Given the description of an element on the screen output the (x, y) to click on. 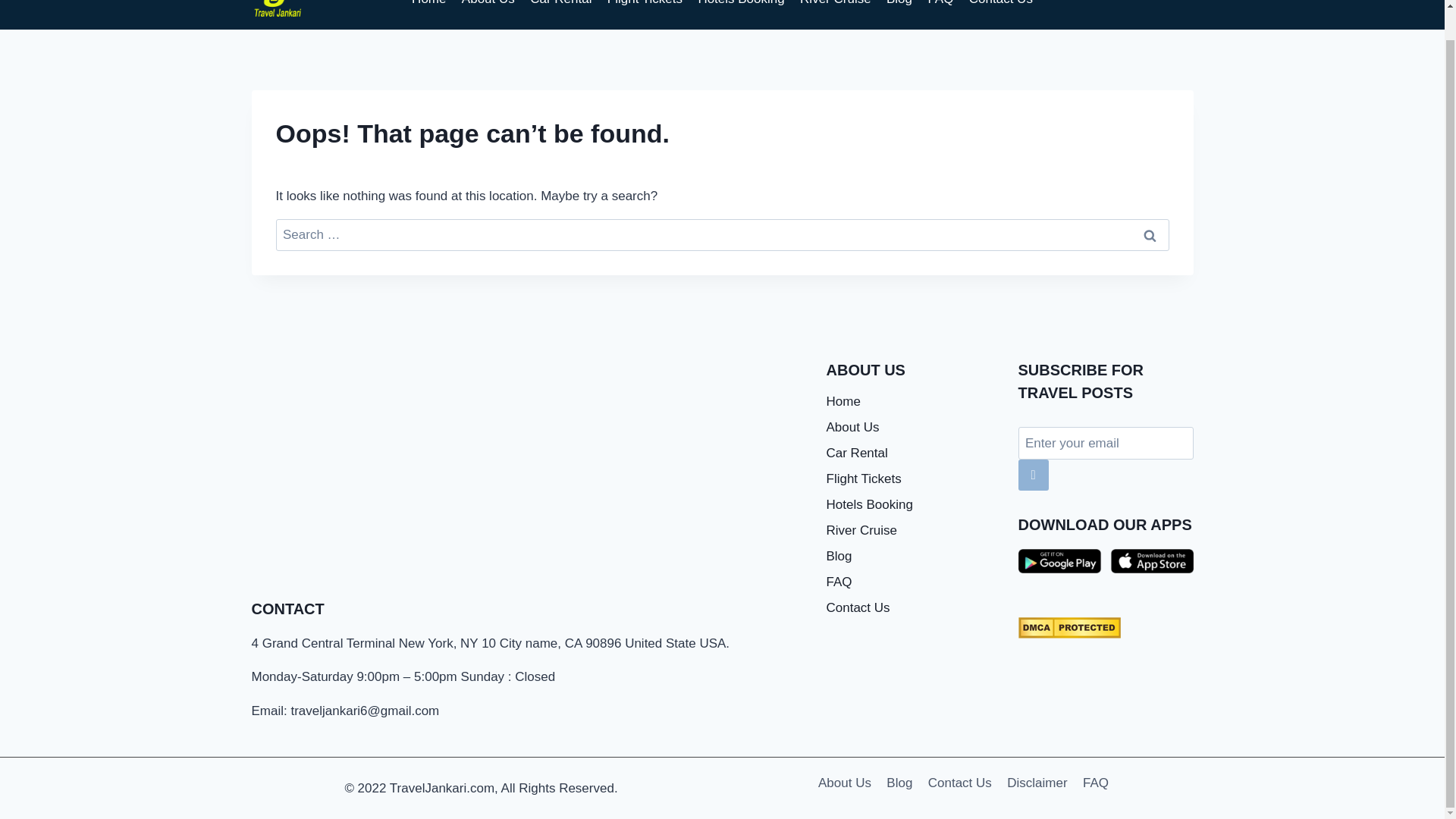
FAQ (1095, 782)
Flight Tickets (911, 479)
River Cruise (835, 8)
Blog (899, 8)
Contact Us (959, 782)
FAQ (911, 582)
FAQ (940, 8)
About Us (911, 427)
Flight Tickets (644, 8)
Blog (911, 556)
Hotels Booking (911, 504)
Hotels Booking (741, 8)
DMCA.com Protection Status (1104, 627)
Search (1150, 235)
Car Rental (911, 453)
